Given the description of an element on the screen output the (x, y) to click on. 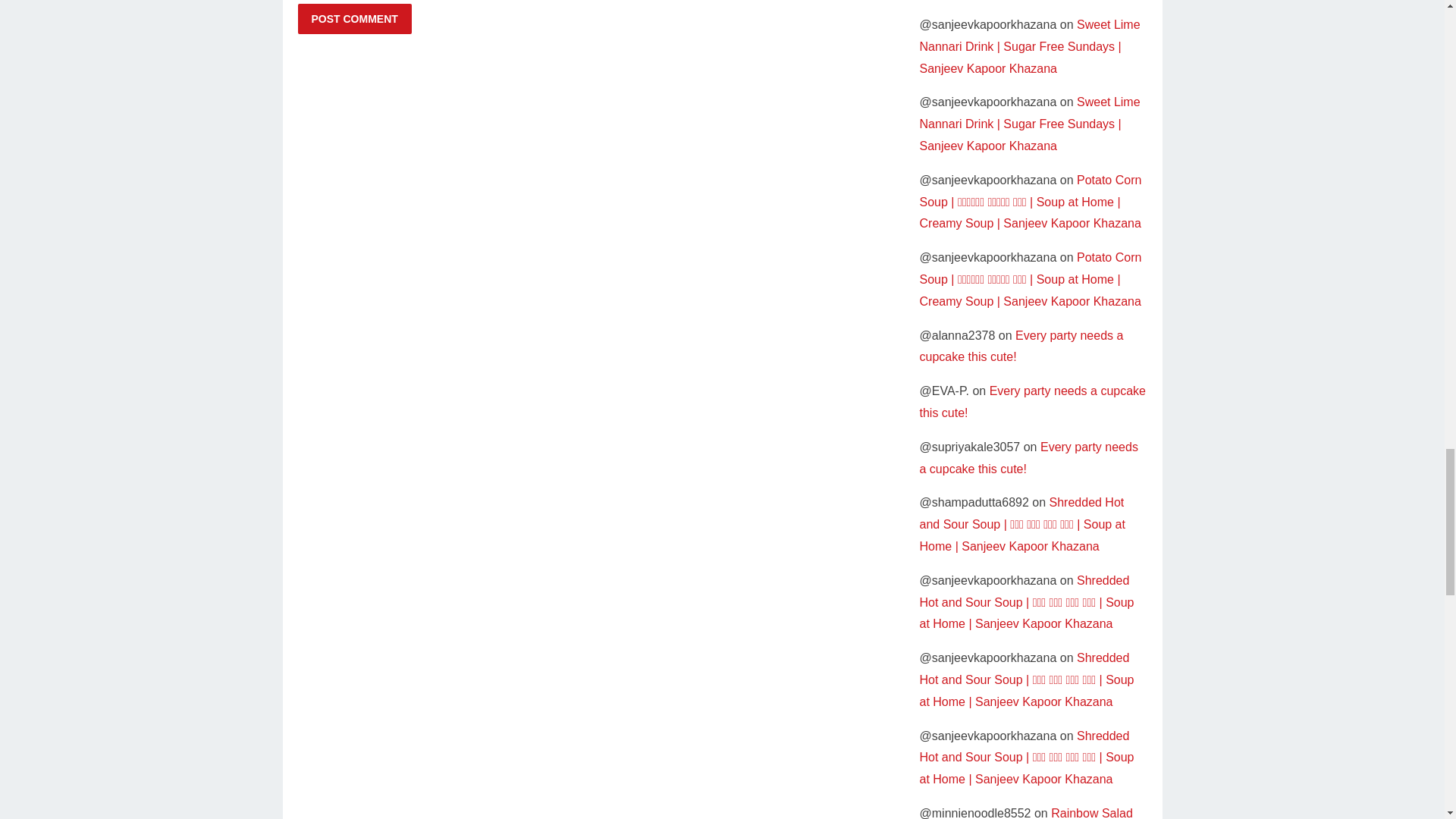
Post Comment (353, 19)
